Given the description of an element on the screen output the (x, y) to click on. 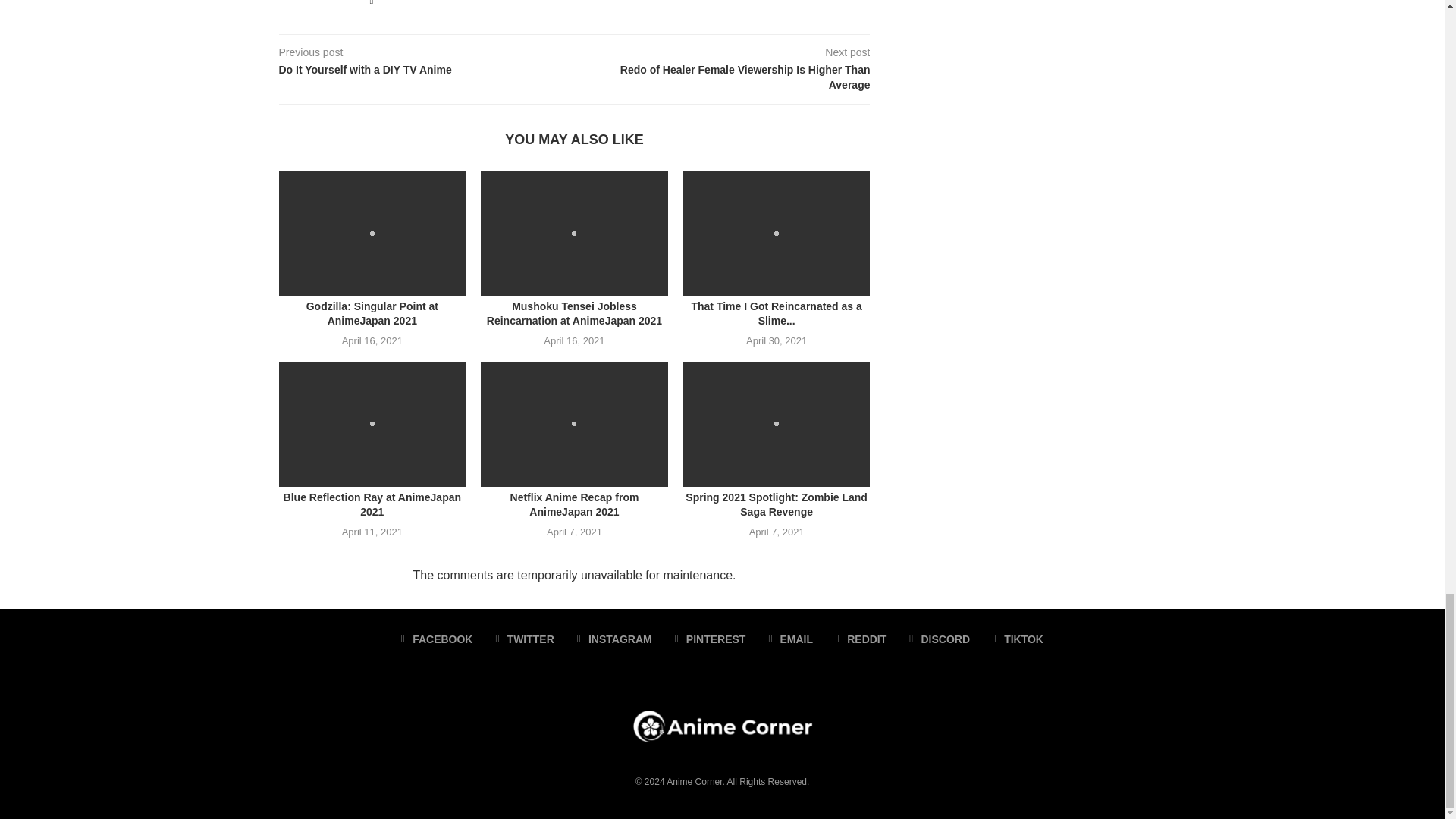
Blue Reflection Ray at AnimeJapan 2021 (372, 423)
Godzilla: Singular Point at AnimeJapan 2021 (372, 232)
That Time I Got Reincarnated as a Slime at AnimeJapan 2021 (776, 232)
Netflix Anime Recap from AnimeJapan 2021 (574, 423)
Spring 2021 Spotlight: Zombie Land Saga Revenge (776, 423)
Mushoku Tensei Jobless Reincarnation at AnimeJapan 2021 (574, 232)
